Given the description of an element on the screen output the (x, y) to click on. 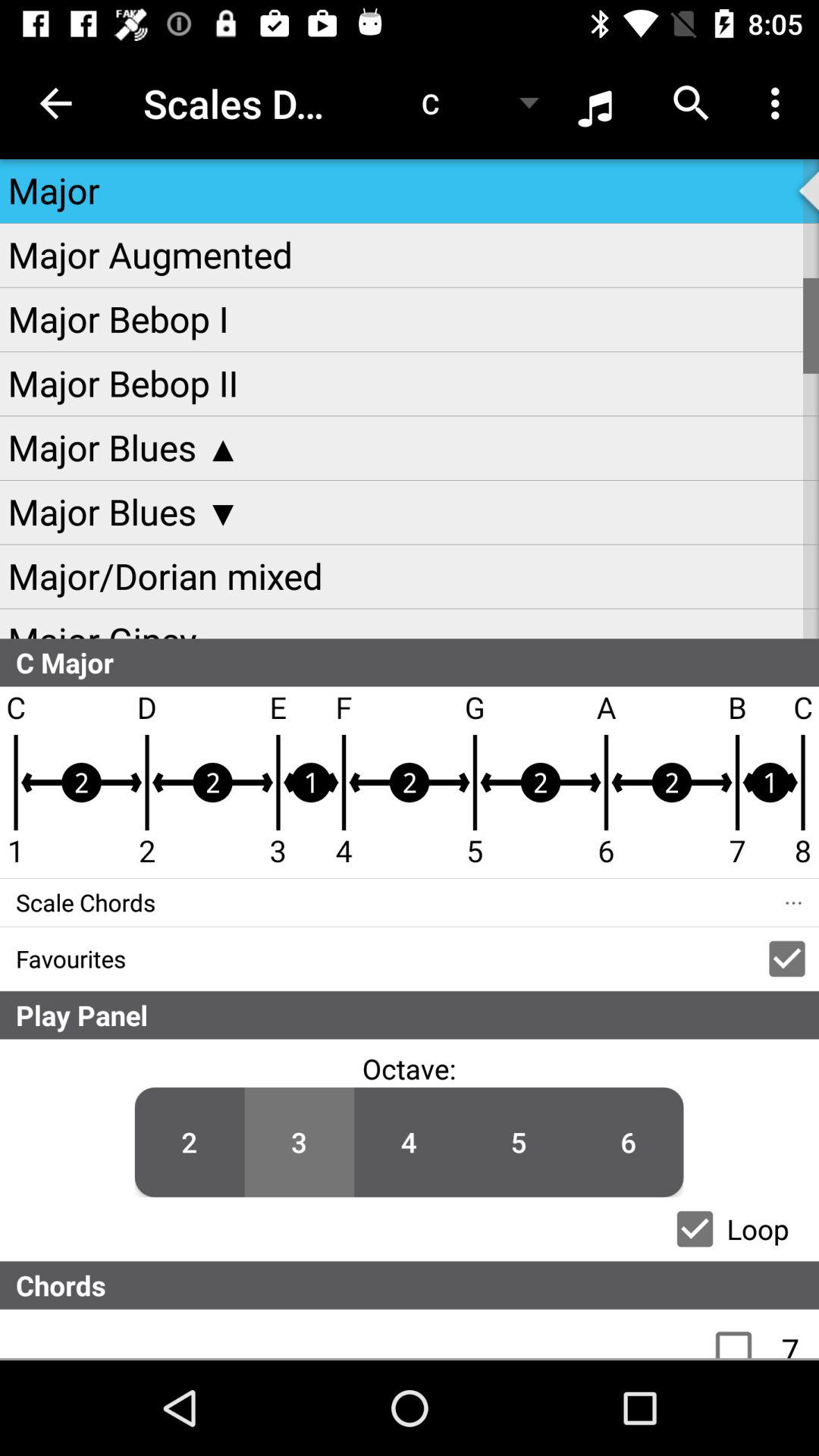
check favourites (787, 958)
